Given the description of an element on the screen output the (x, y) to click on. 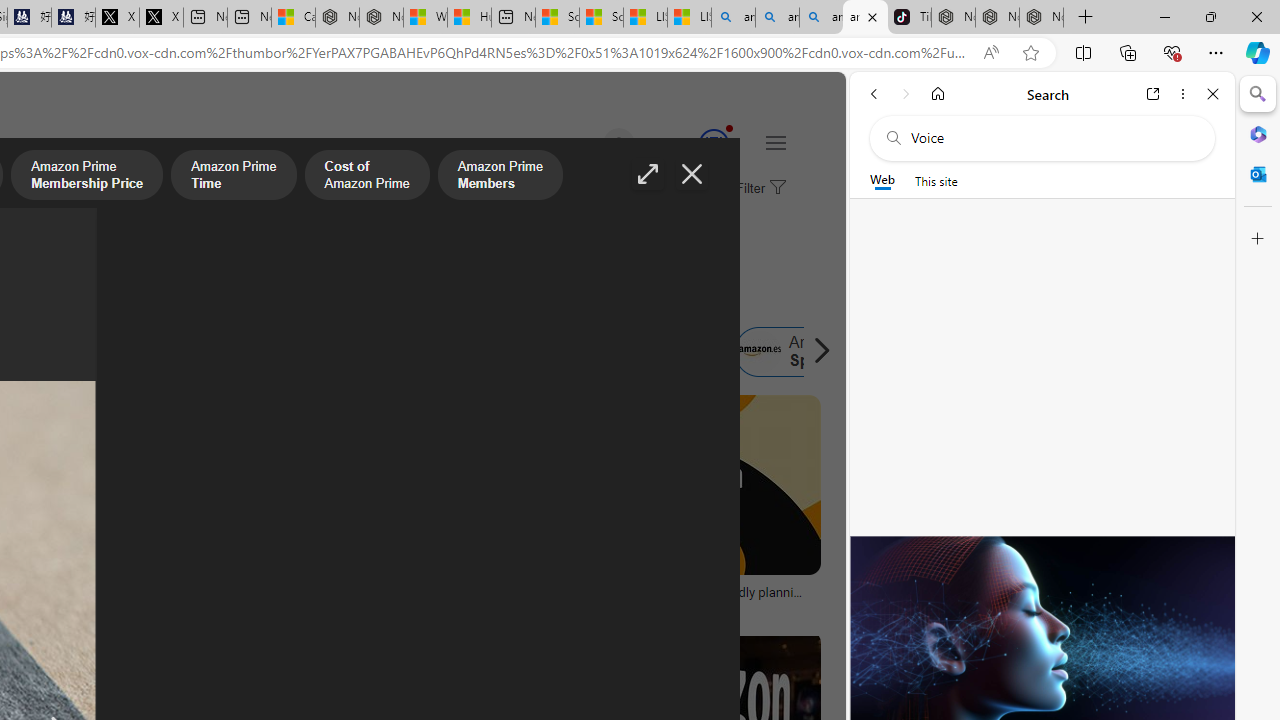
downdetector.ae (249, 605)
Open link in new tab (1153, 93)
downdetector.ae (368, 606)
Eugene (590, 143)
Amazon Logo (PNG e SVG) Download Vetorial Transparente (98, 598)
TikTok (909, 17)
This site scope (936, 180)
Class: medal-circled (713, 143)
Amazon Spain (759, 351)
